Given the description of an element on the screen output the (x, y) to click on. 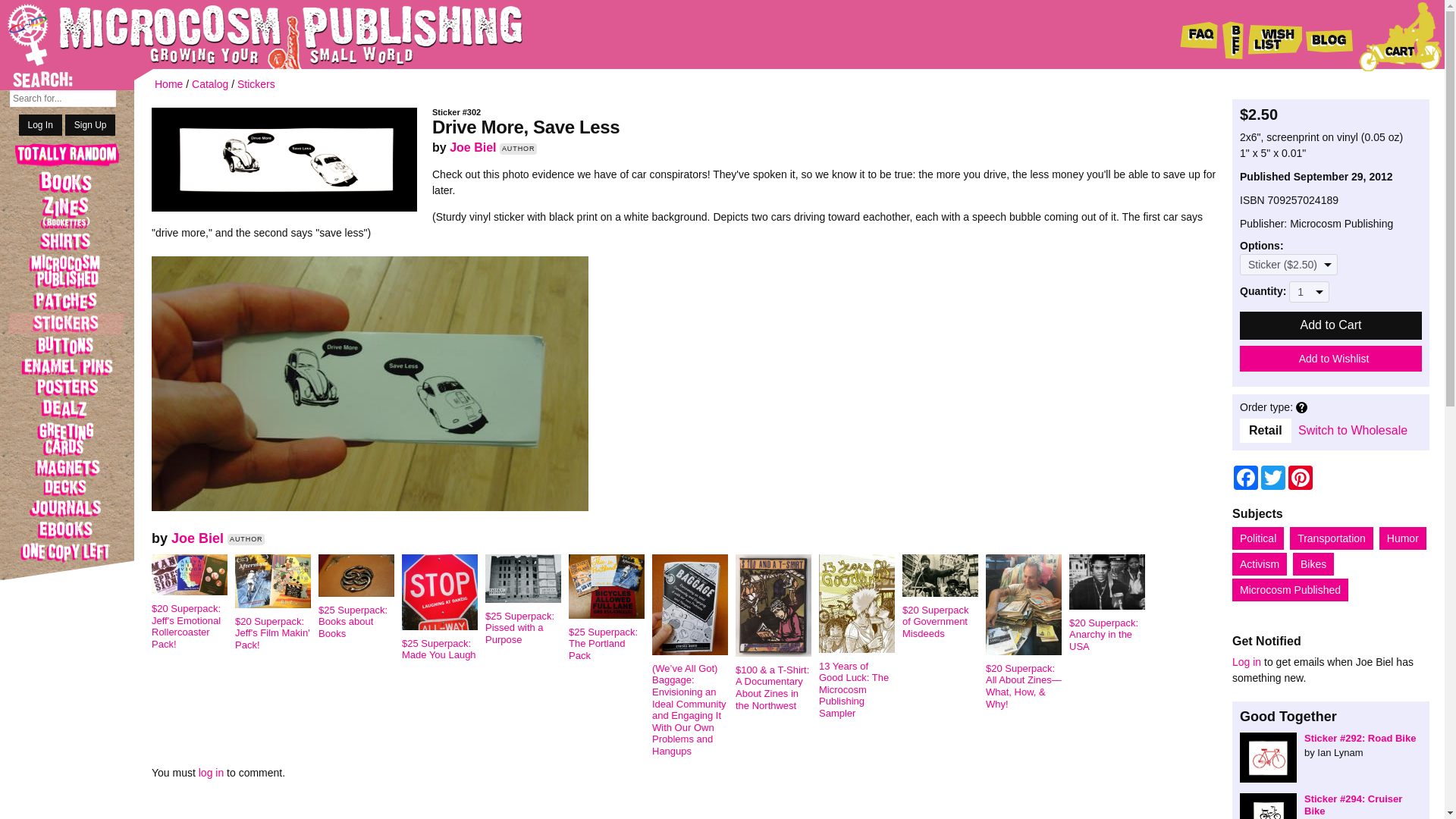
Jump to totally random title (66, 156)
Totally Random (66, 156)
Books (66, 181)
Sign Up (90, 124)
back to Microcosm Publishing homepage (242, 34)
Add to Cart (1331, 325)
Add to Wishlist (1331, 358)
cart (1399, 36)
13 Years of Good Luck: The Microcosm Publishing Sampler (860, 680)
Zines (66, 212)
